Given the description of an element on the screen output the (x, y) to click on. 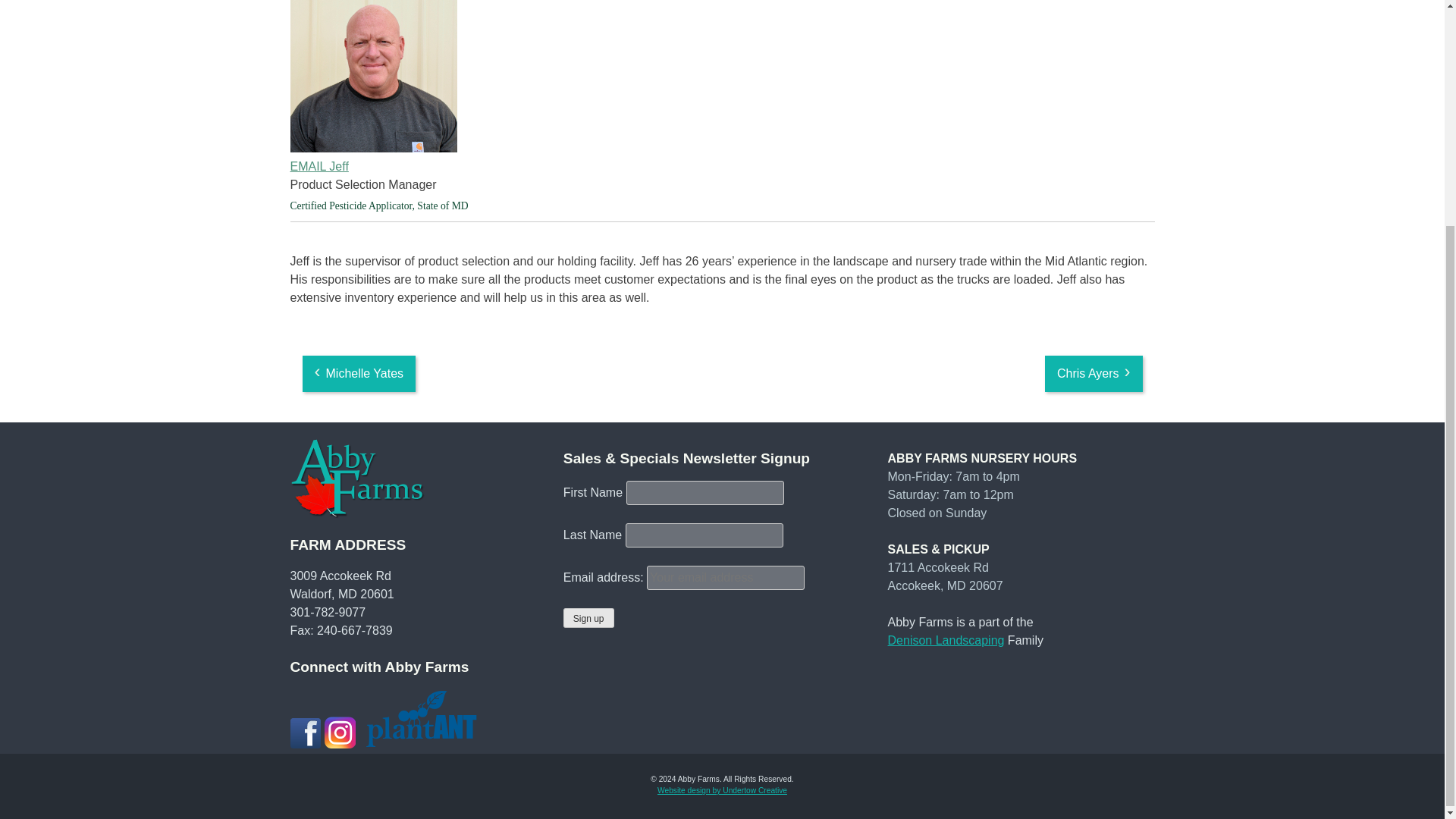
Sign up (588, 618)
Michelle Yates (357, 373)
Website design by Undertow Creative (722, 790)
EMAIL Jeff (721, 167)
Chris Ayers (1093, 373)
Sign up (588, 618)
Denison Landscaping (946, 640)
